Given the description of an element on the screen output the (x, y) to click on. 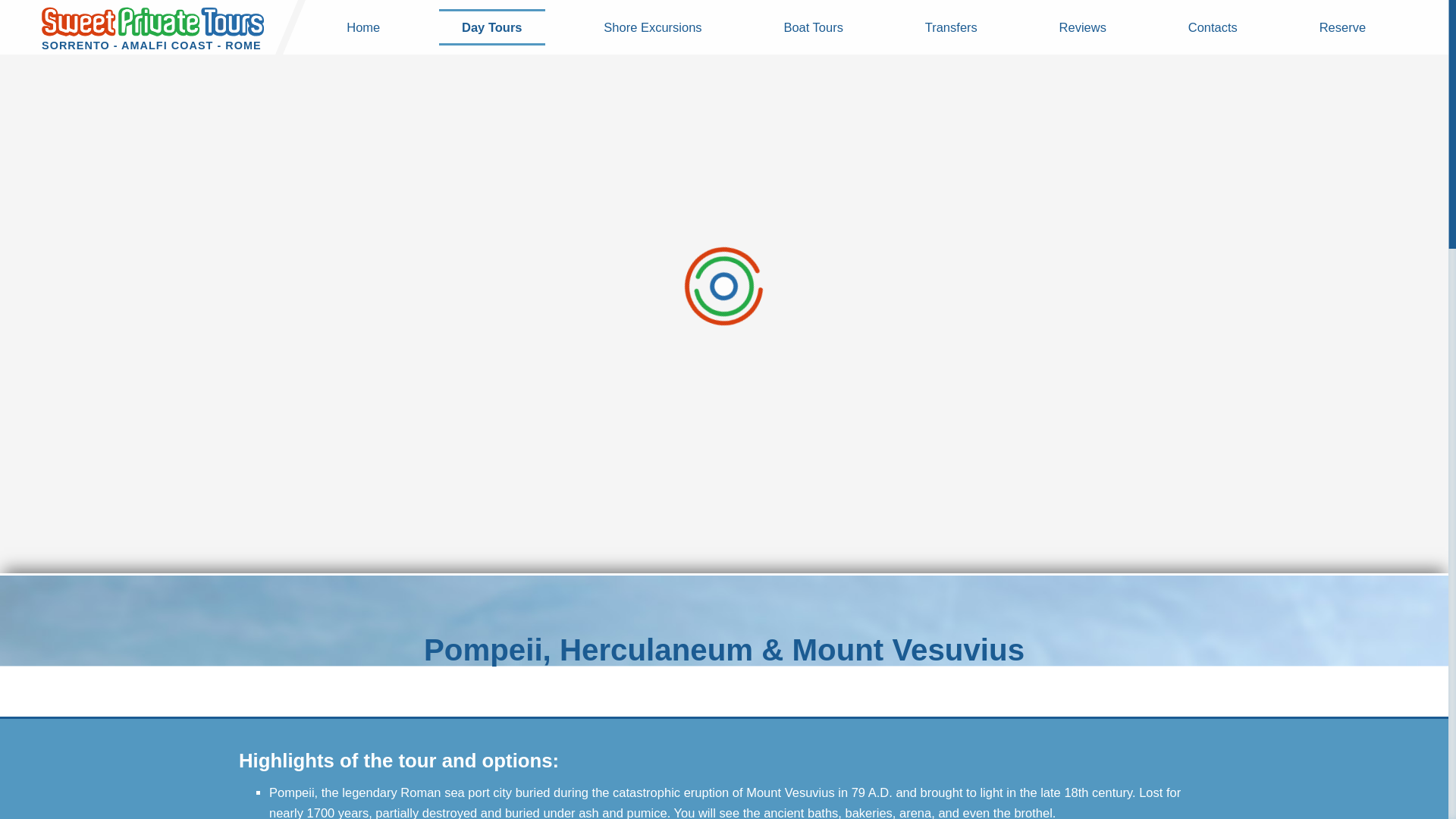
Boat Tours (812, 27)
Home (362, 27)
Day Tours (491, 27)
Shore Excursions (652, 27)
Reviews (1082, 27)
Reserve (1342, 27)
Transfers (950, 27)
Contacts (1212, 27)
